Given the description of an element on the screen output the (x, y) to click on. 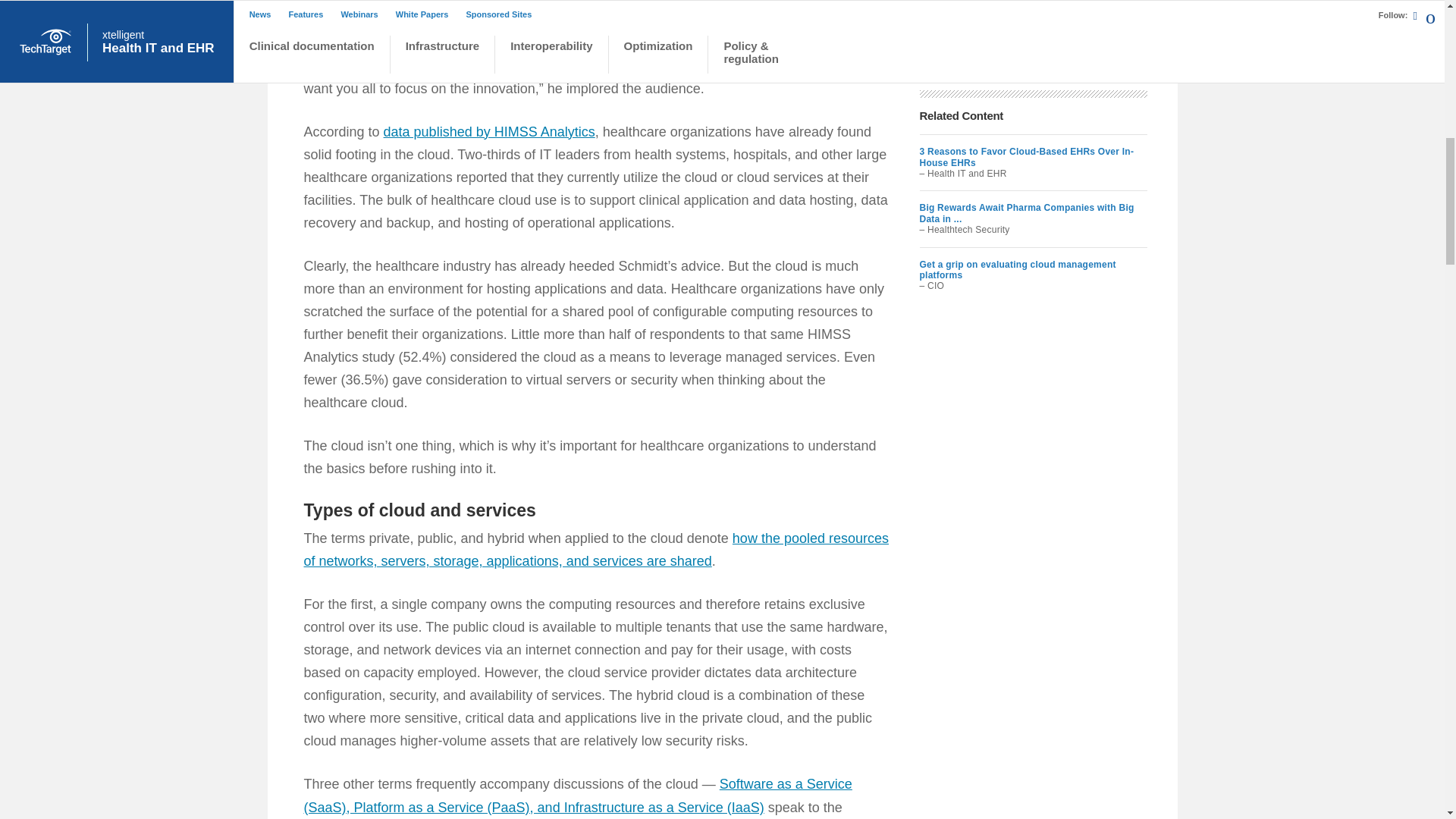
data published by HIMSS Analytics (489, 131)
